Given the description of an element on the screen output the (x, y) to click on. 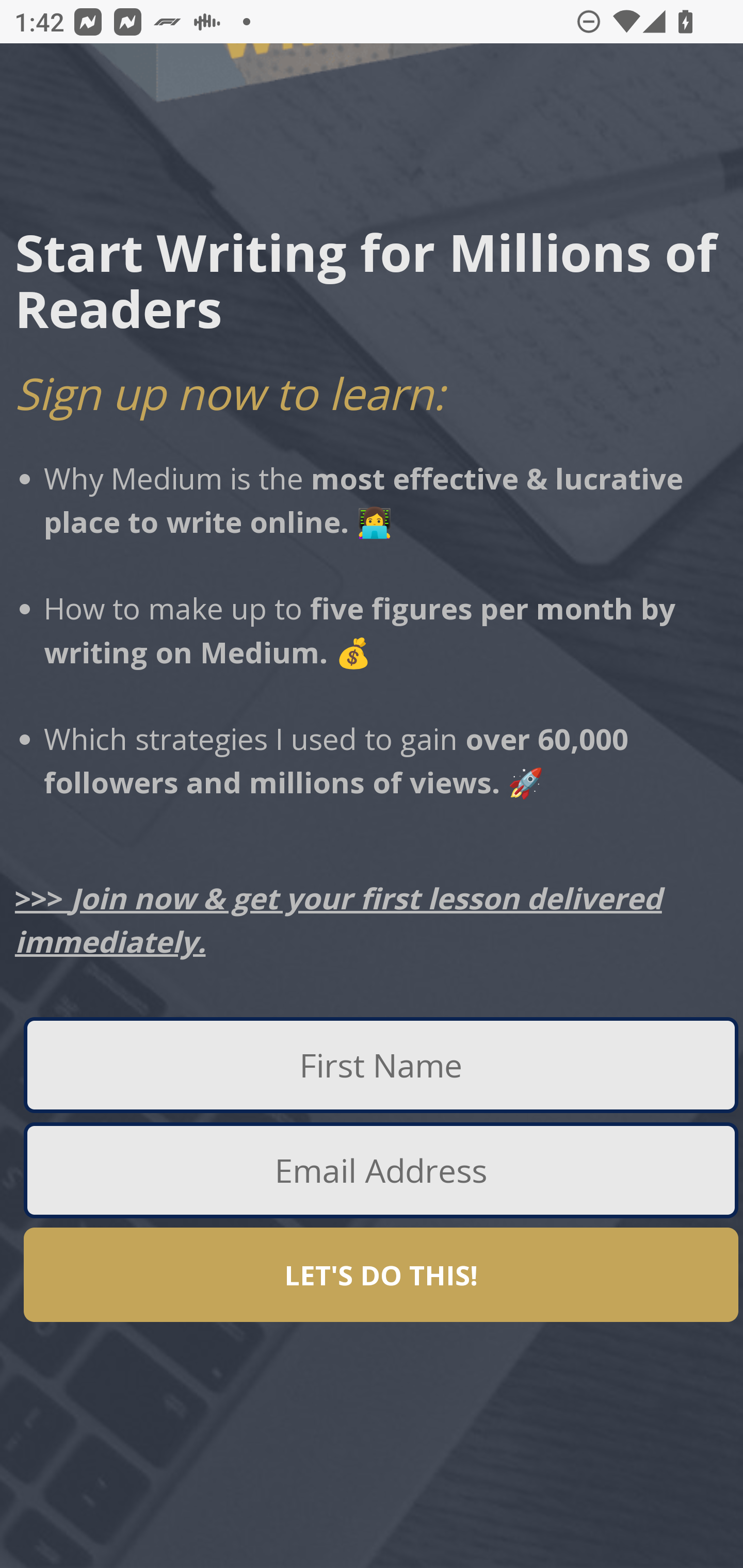
LET'S DO THIS! (380, 1275)
